Given the description of an element on the screen output the (x, y) to click on. 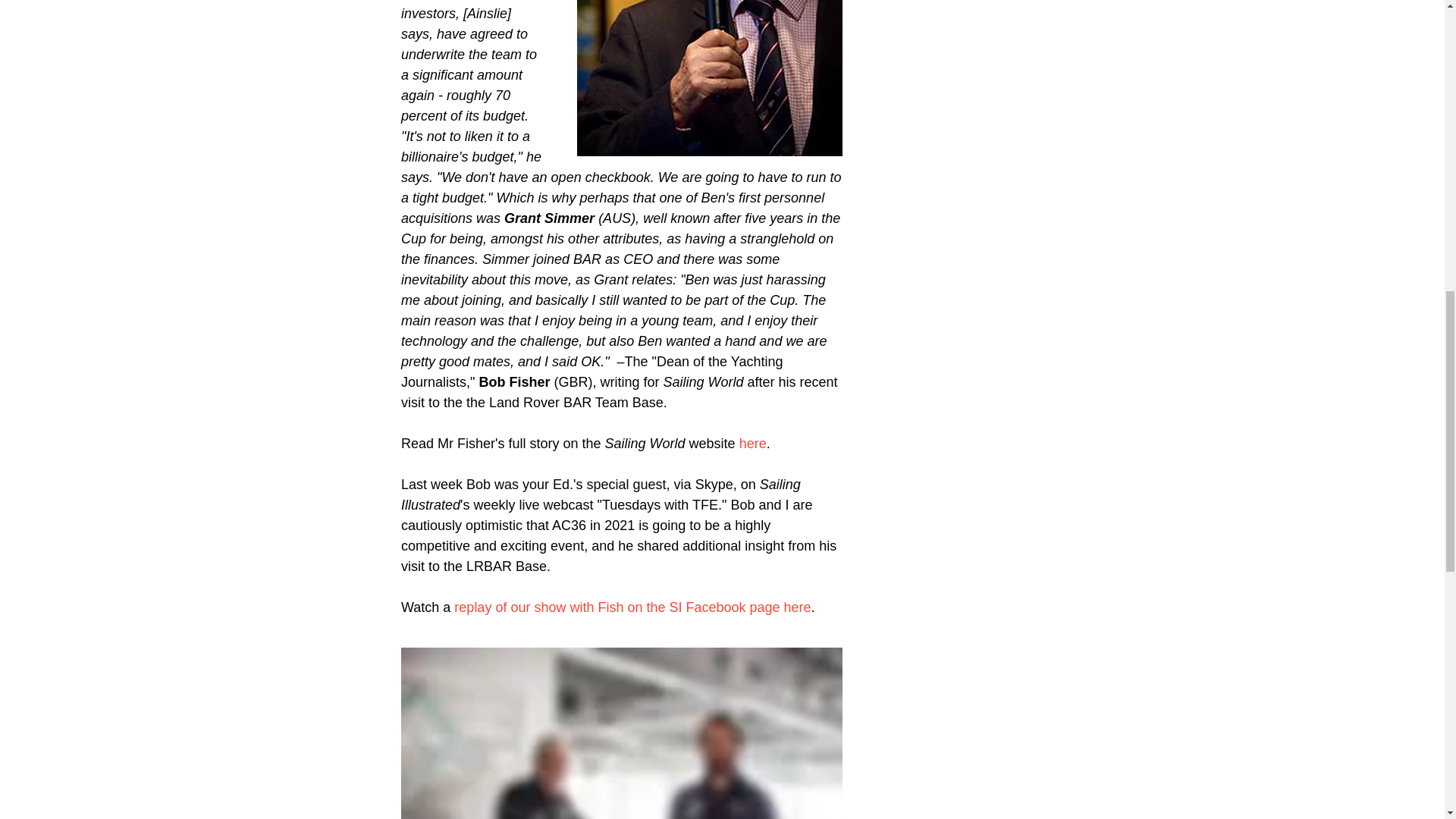
here (751, 443)
replay of our show with Fish on the SI Facebook page here (632, 607)
